Given the description of an element on the screen output the (x, y) to click on. 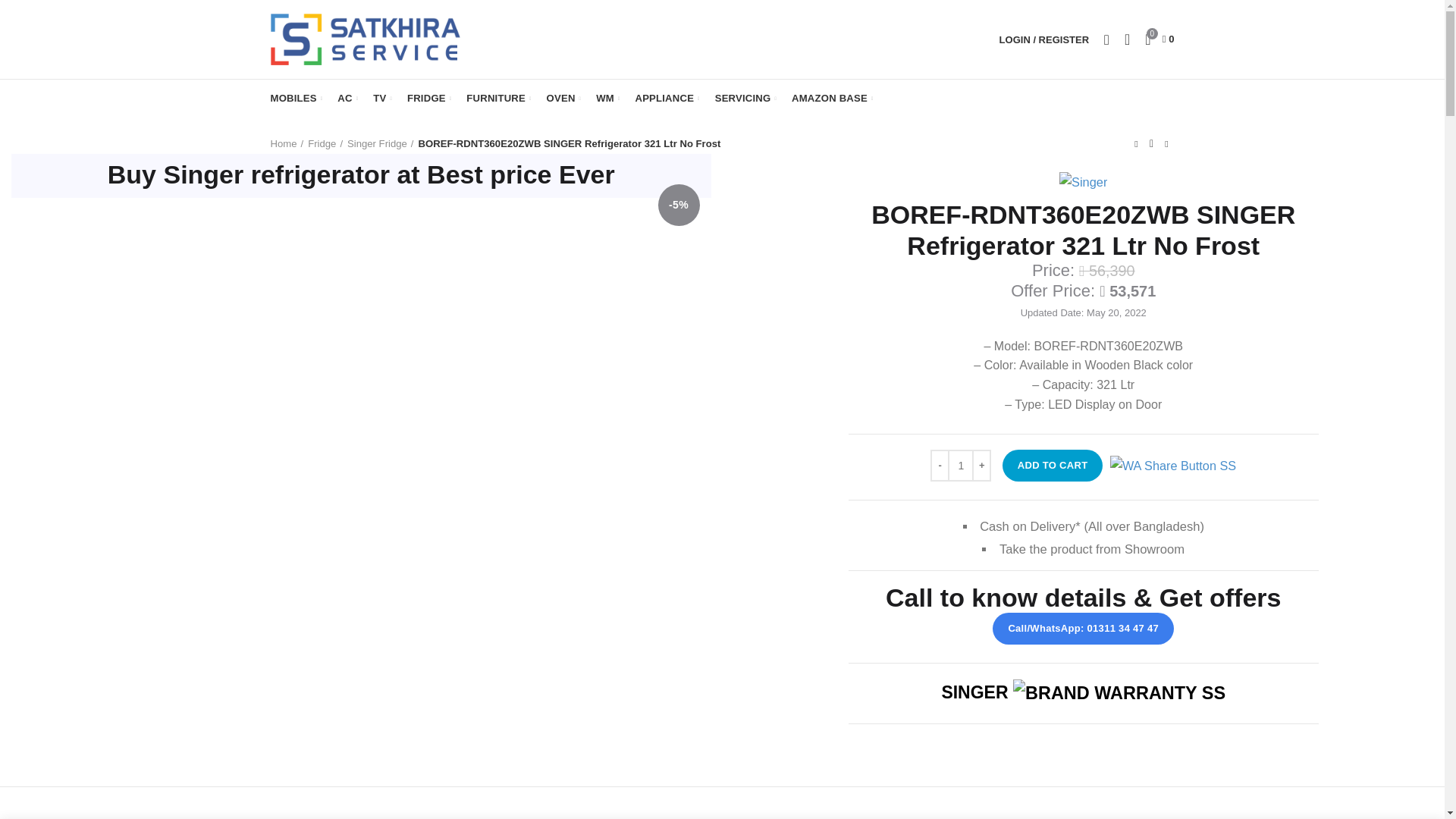
AC (347, 98)
My account (1043, 39)
MOBILES (296, 98)
Shopping cart (1158, 39)
Home Appliance (666, 98)
Log in (963, 270)
Singer (1082, 181)
TV (381, 98)
